Given the description of an element on the screen output the (x, y) to click on. 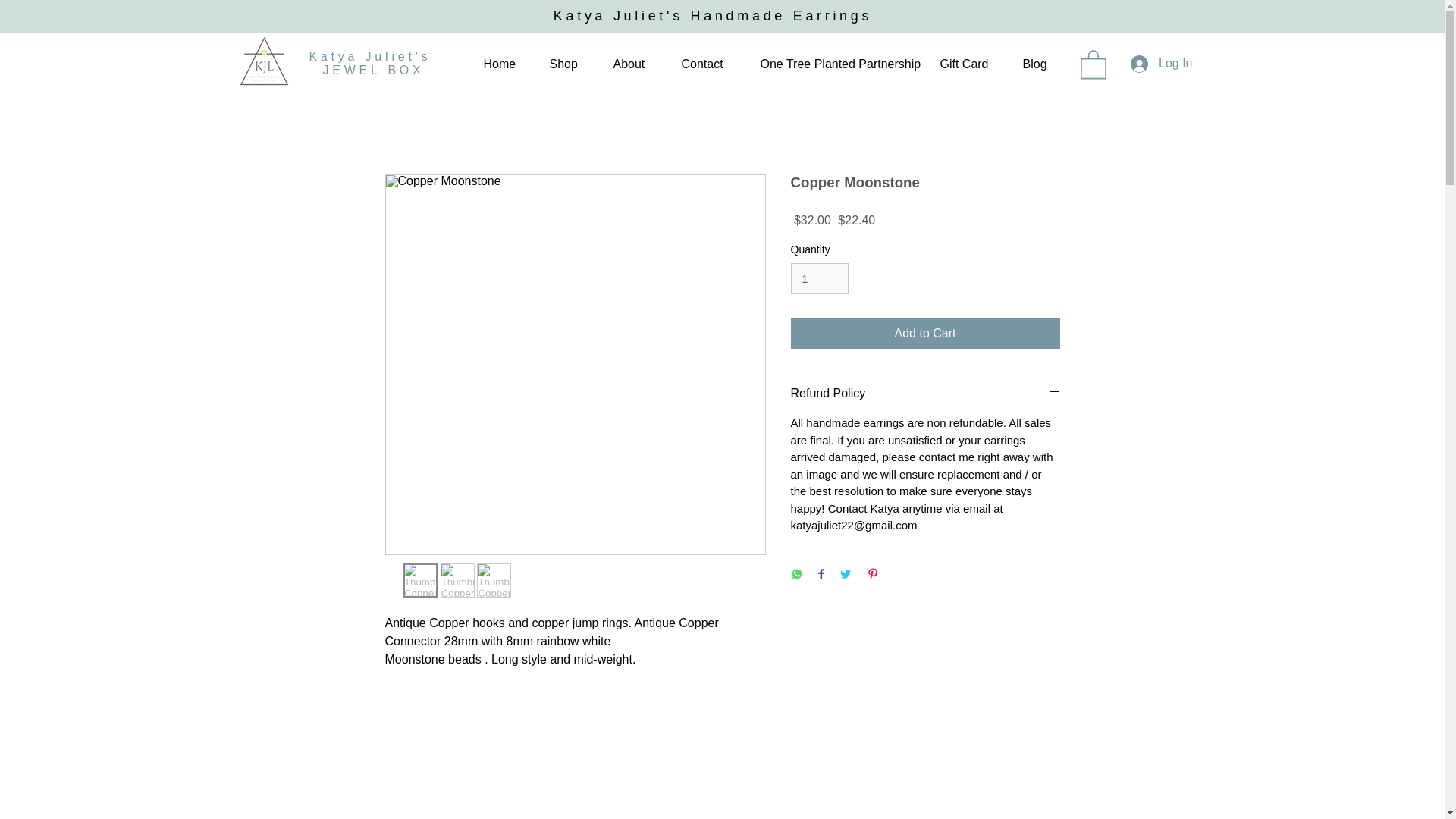
Blog (1034, 64)
Log In (1160, 63)
One Tree Planted Partnership (831, 64)
Add to Cart (924, 333)
1 (818, 278)
JEWEL BOX (372, 69)
Home (496, 64)
Shop (562, 64)
Katya Juliet's  (373, 56)
About (628, 64)
Refund Policy (924, 393)
KJL Logo (262, 63)
Gift Card (961, 64)
